Given the description of an element on the screen output the (x, y) to click on. 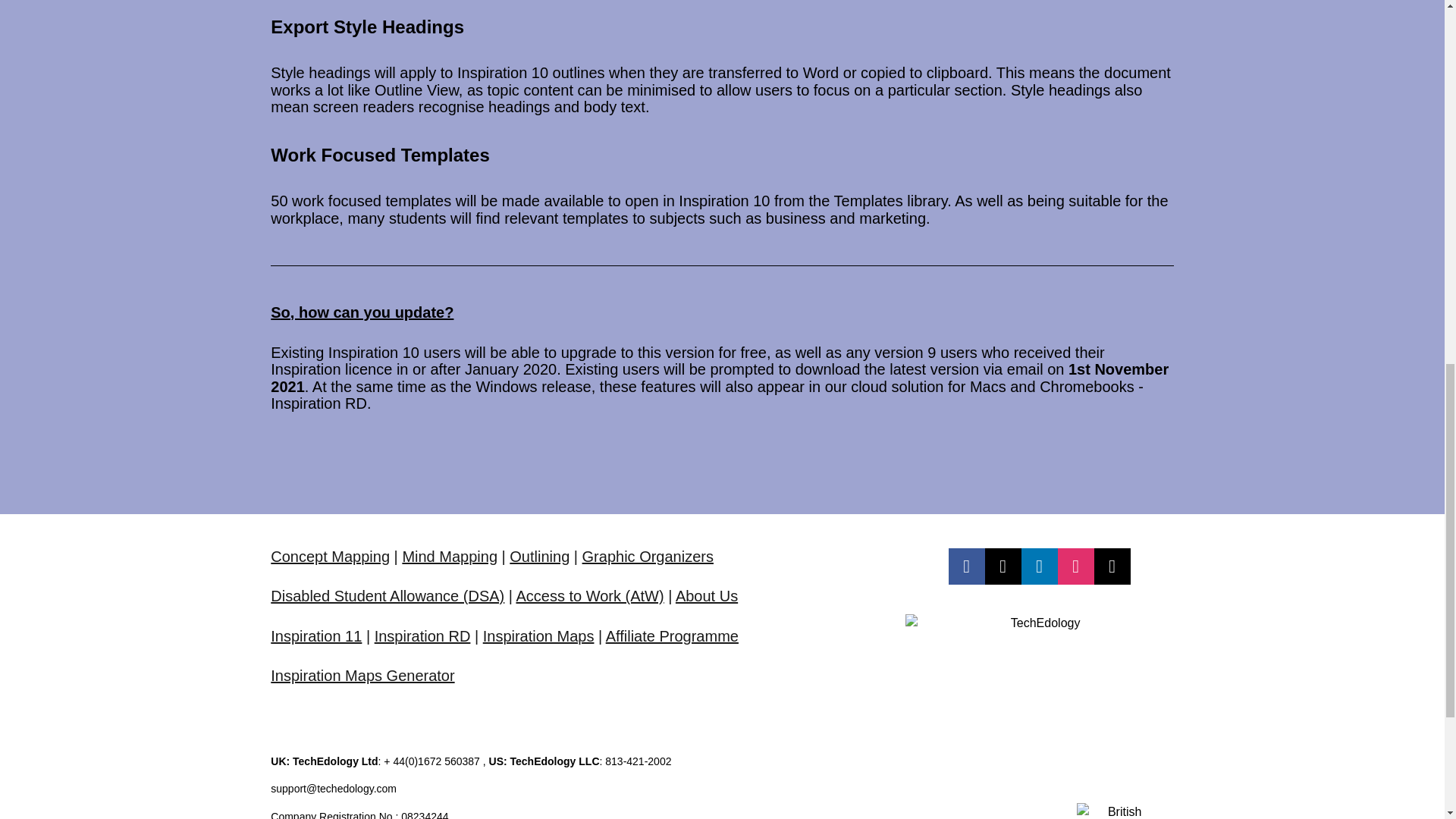
Inspiration RD (422, 636)
Share on Instagram (1076, 565)
Mind Mapping (449, 556)
About Us (706, 596)
Share on TikTok (1112, 565)
Share on LinkedIn (1040, 565)
Outlining (539, 556)
Share on Facebook (967, 565)
Affiliate Programme (671, 636)
Inspiration Maps Generator (362, 675)
